Given the description of an element on the screen output the (x, y) to click on. 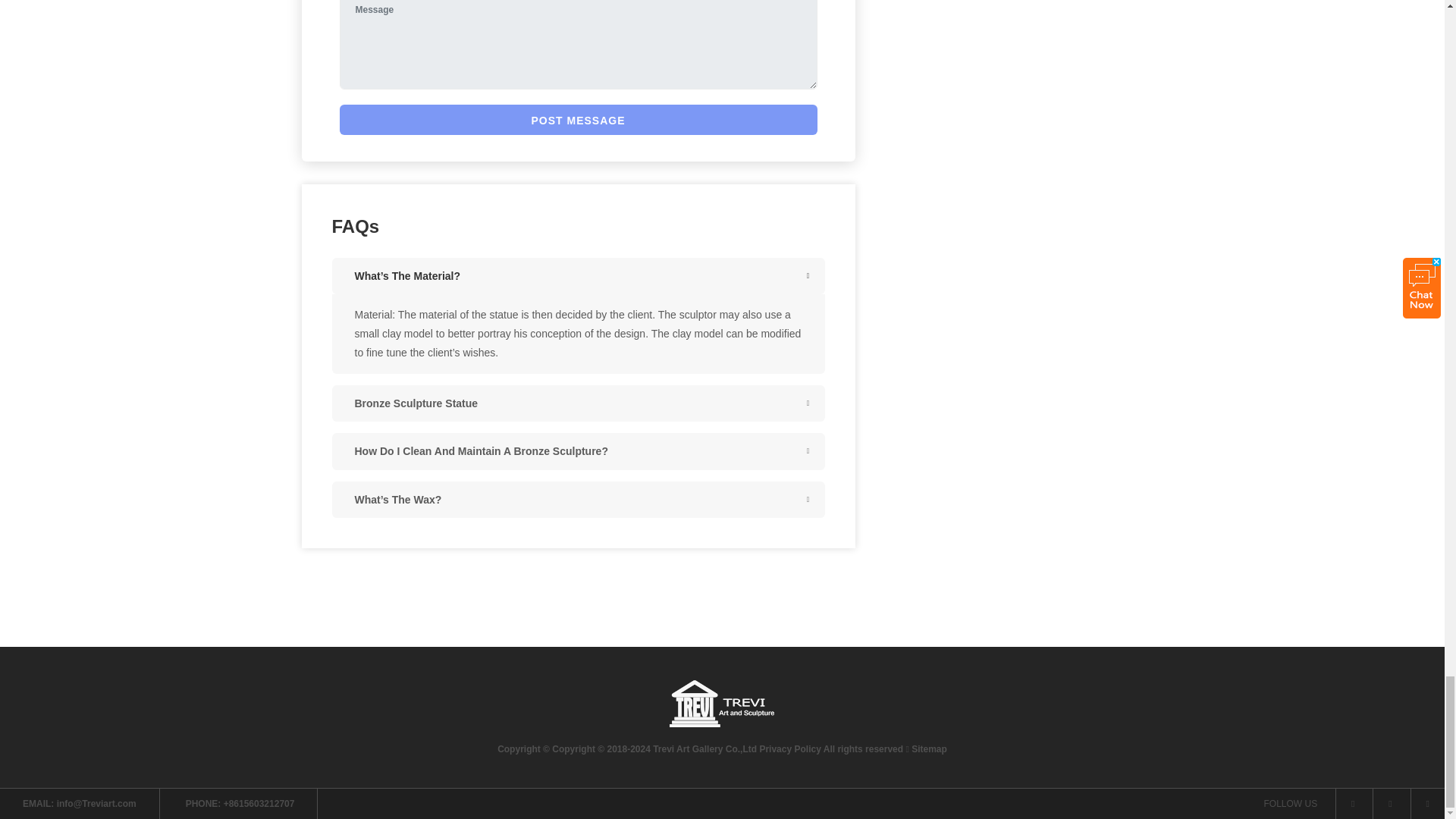
How Do I Clean And Maintain A Bronze Sculpture? (578, 451)
POST MESSAGE (577, 119)
Bronze Sculpture Statue (578, 402)
